Given the description of an element on the screen output the (x, y) to click on. 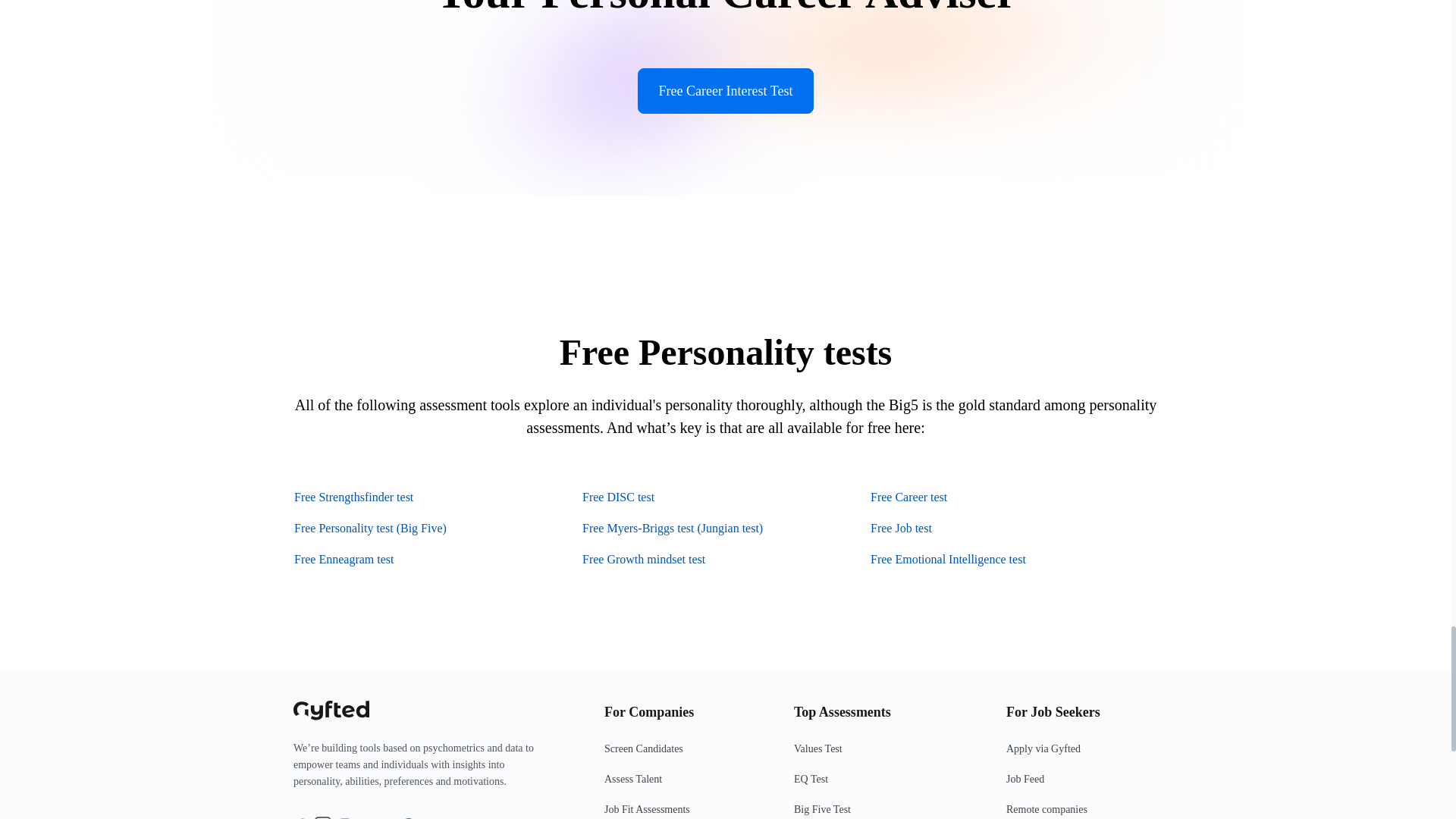
Screen Candidates (679, 755)
Free Growth mindset test (643, 559)
Free Career Interest Test (725, 90)
Free DISC test (617, 496)
Free Enneagram test (344, 559)
Free Strengthsfinder test (353, 496)
Job Fit Assessments (679, 809)
Free Emotional Intelligence test (947, 559)
Free Career test (908, 496)
Assess Talent (679, 785)
Free Job test (901, 528)
